Given the description of an element on the screen output the (x, y) to click on. 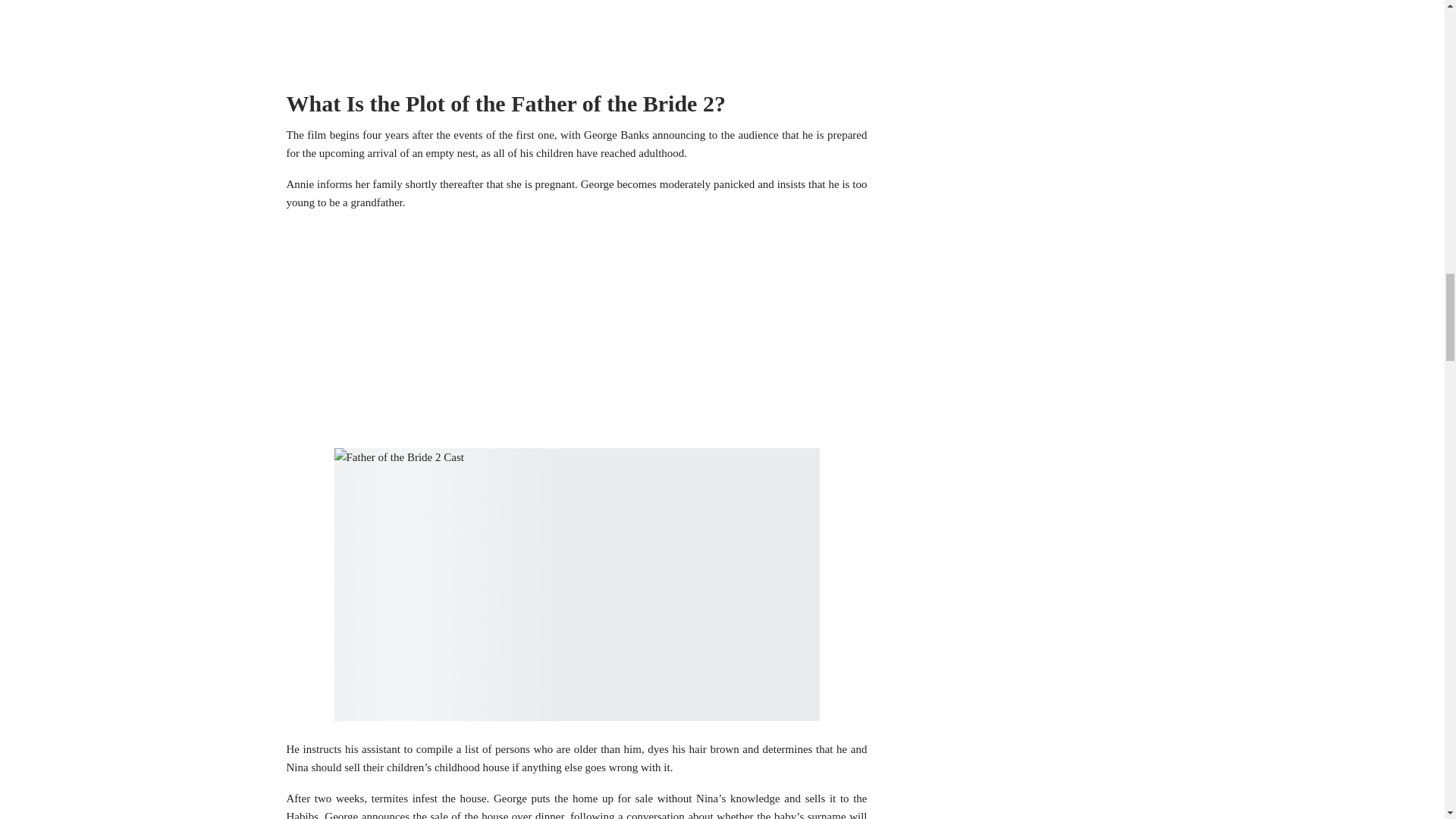
Advertisement (576, 330)
Advertisement (576, 36)
